Given the description of an element on the screen output the (x, y) to click on. 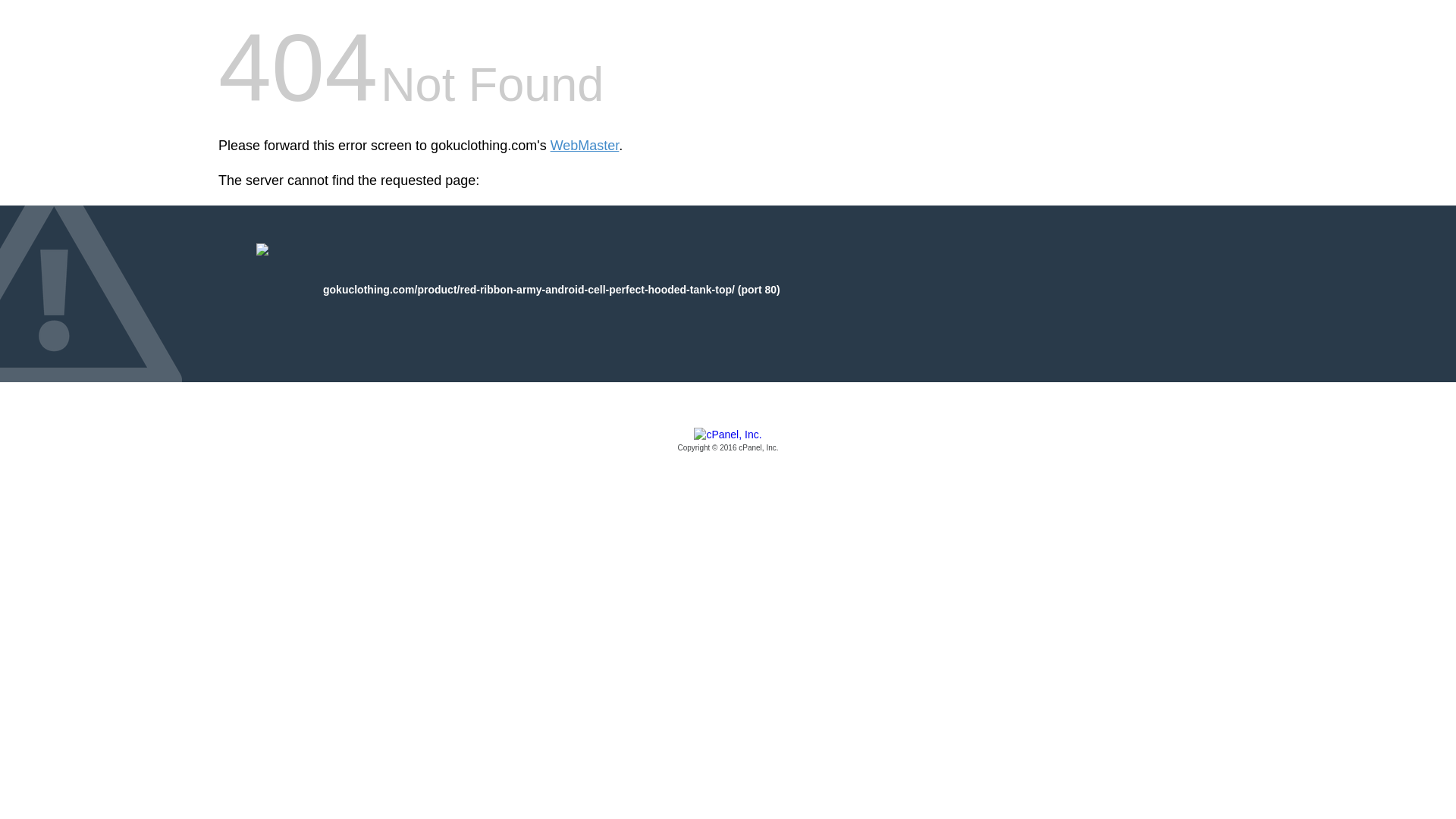
WebMaster (585, 145)
cPanel, Inc. (727, 440)
